Given the description of an element on the screen output the (x, y) to click on. 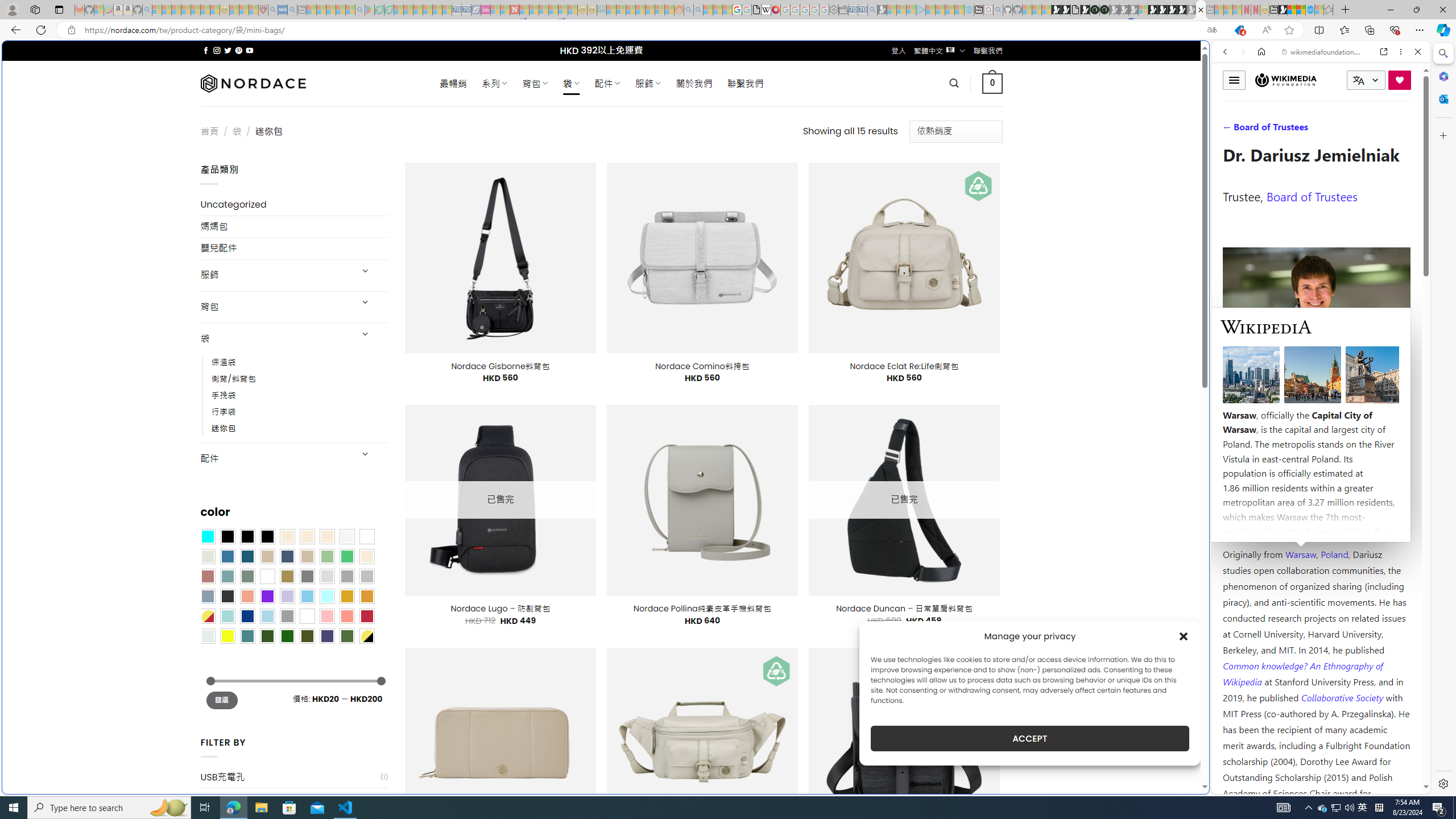
utah sues federal government - Search (922, 389)
Close split screen (1208, 57)
Search or enter web address (922, 108)
This site scope (1259, 102)
Follow on YouTube (249, 50)
